Given the description of an element on the screen output the (x, y) to click on. 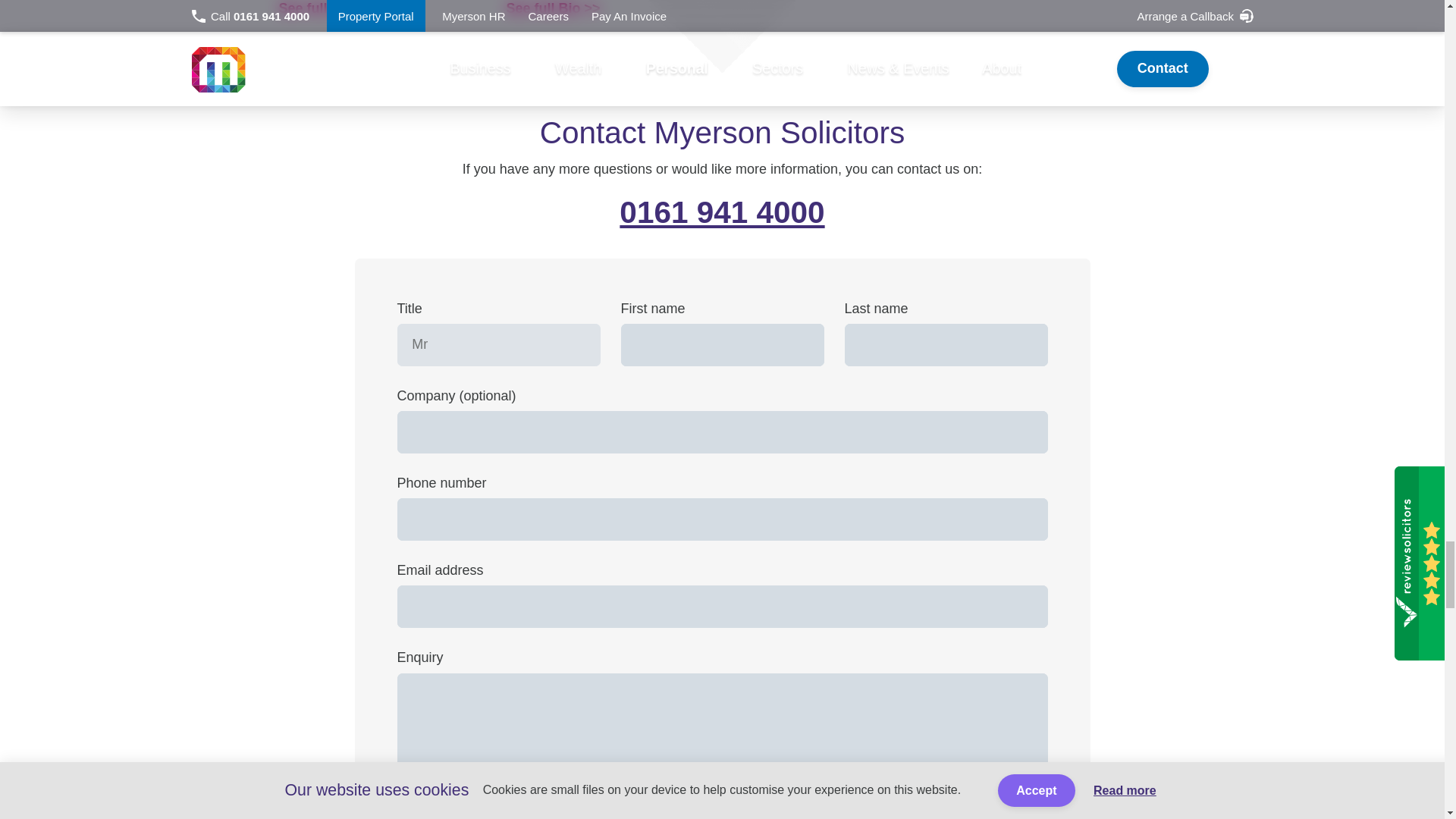
1 (618, 818)
Call Myerson Solicitors on 0161 941 4000 (722, 212)
